Given the description of an element on the screen output the (x, y) to click on. 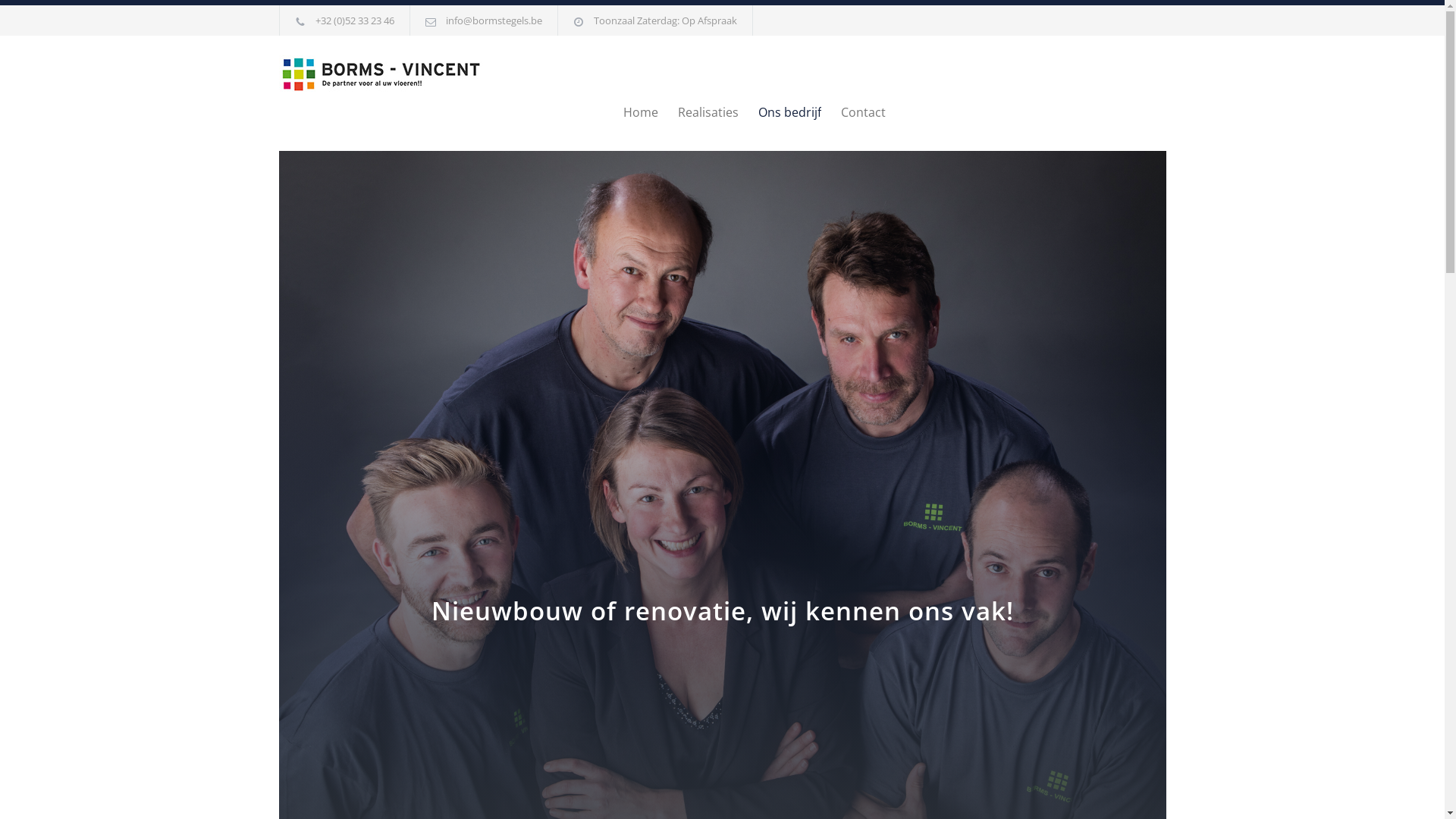
Borms - Vincent Element type: hover (419, 74)
Contact Element type: text (852, 112)
Realisaties Element type: text (698, 112)
Home Element type: text (640, 112)
info@bormstegels.be Element type: text (493, 20)
Ons bedrijf Element type: text (779, 112)
